Given the description of an element on the screen output the (x, y) to click on. 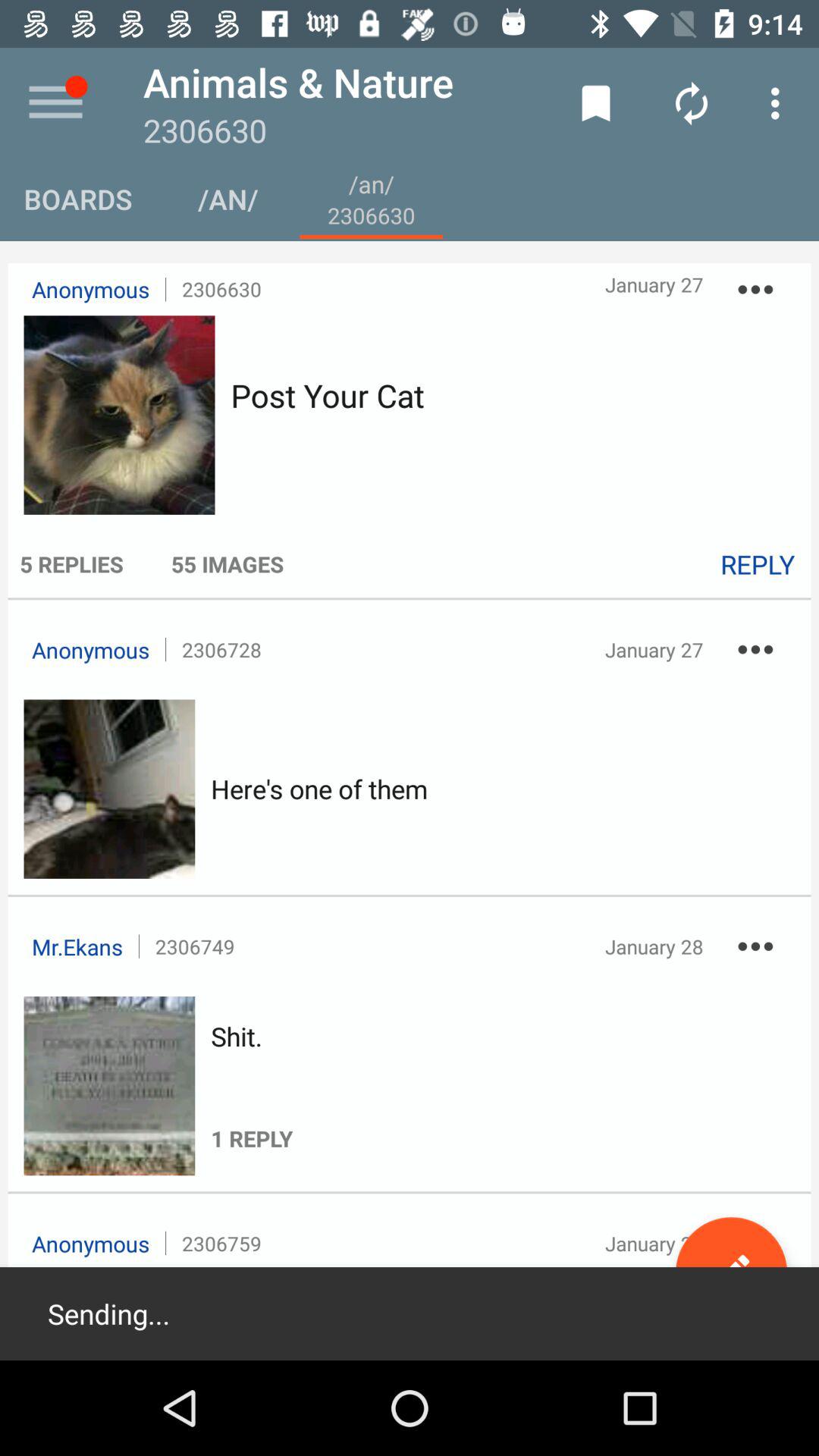
select the item above the anonymous item (71, 563)
